Given the description of an element on the screen output the (x, y) to click on. 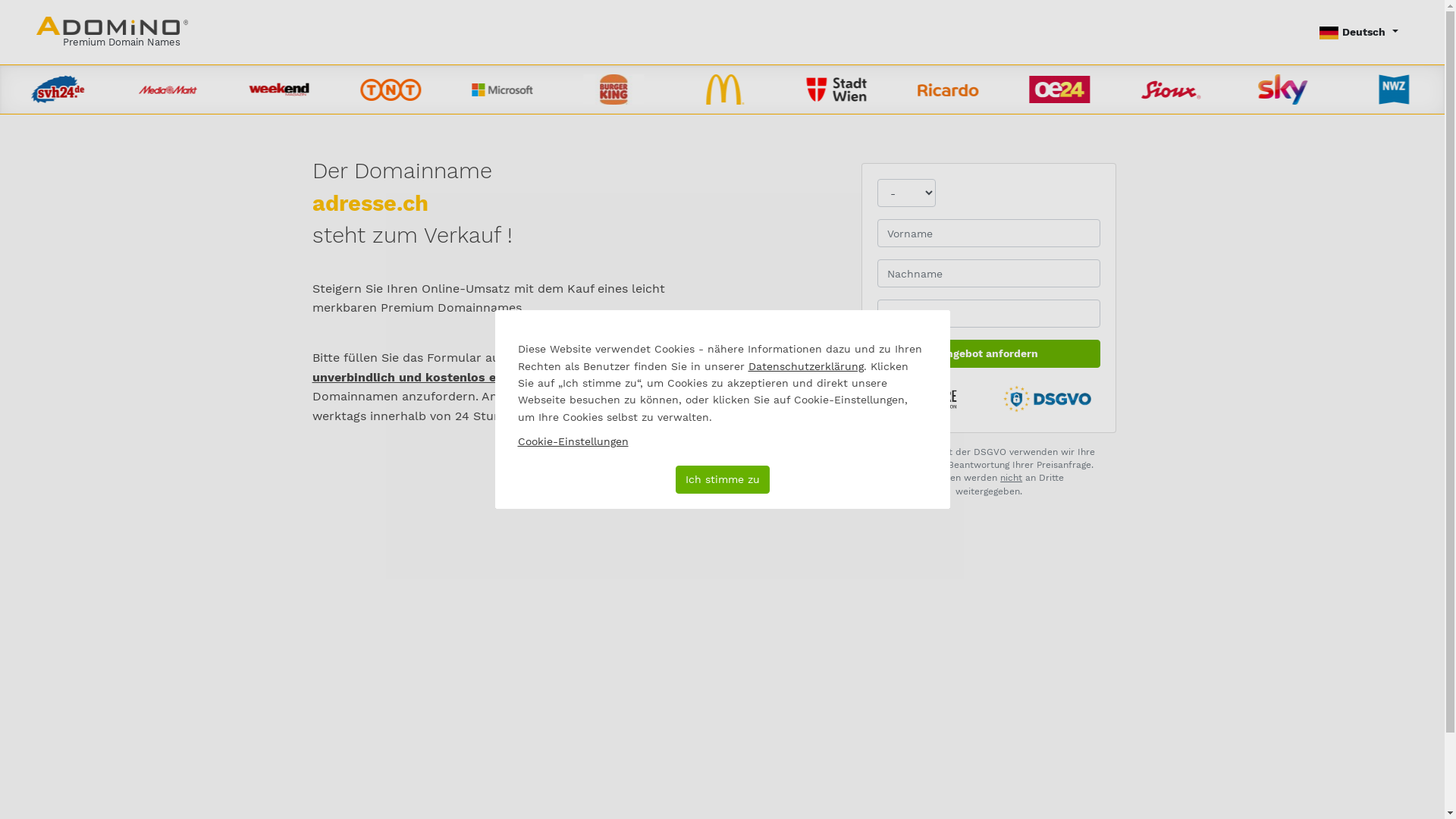
Ich stimme zu Element type: text (721, 479)
Deutsch Element type: text (1358, 32)
Cookie-Einstellungen Element type: text (572, 441)
Angebot anfordern Element type: text (989, 353)
Premium Domain Names Element type: text (112, 31)
